Given the description of an element on the screen output the (x, y) to click on. 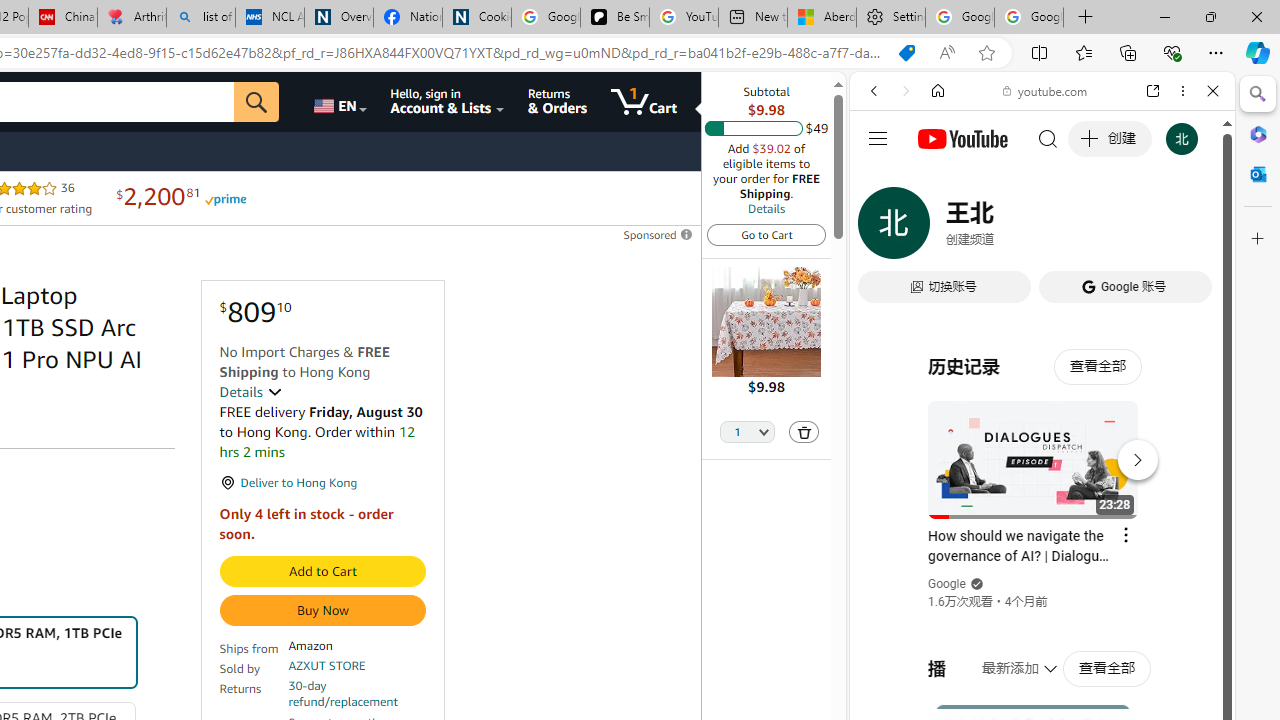
Trailer #2 [HD] (1042, 594)
Microsoft 365 (1258, 133)
New Tab (1085, 17)
VIDEOS (1006, 228)
Returns & Orders (557, 101)
